Given the description of an element on the screen output the (x, y) to click on. 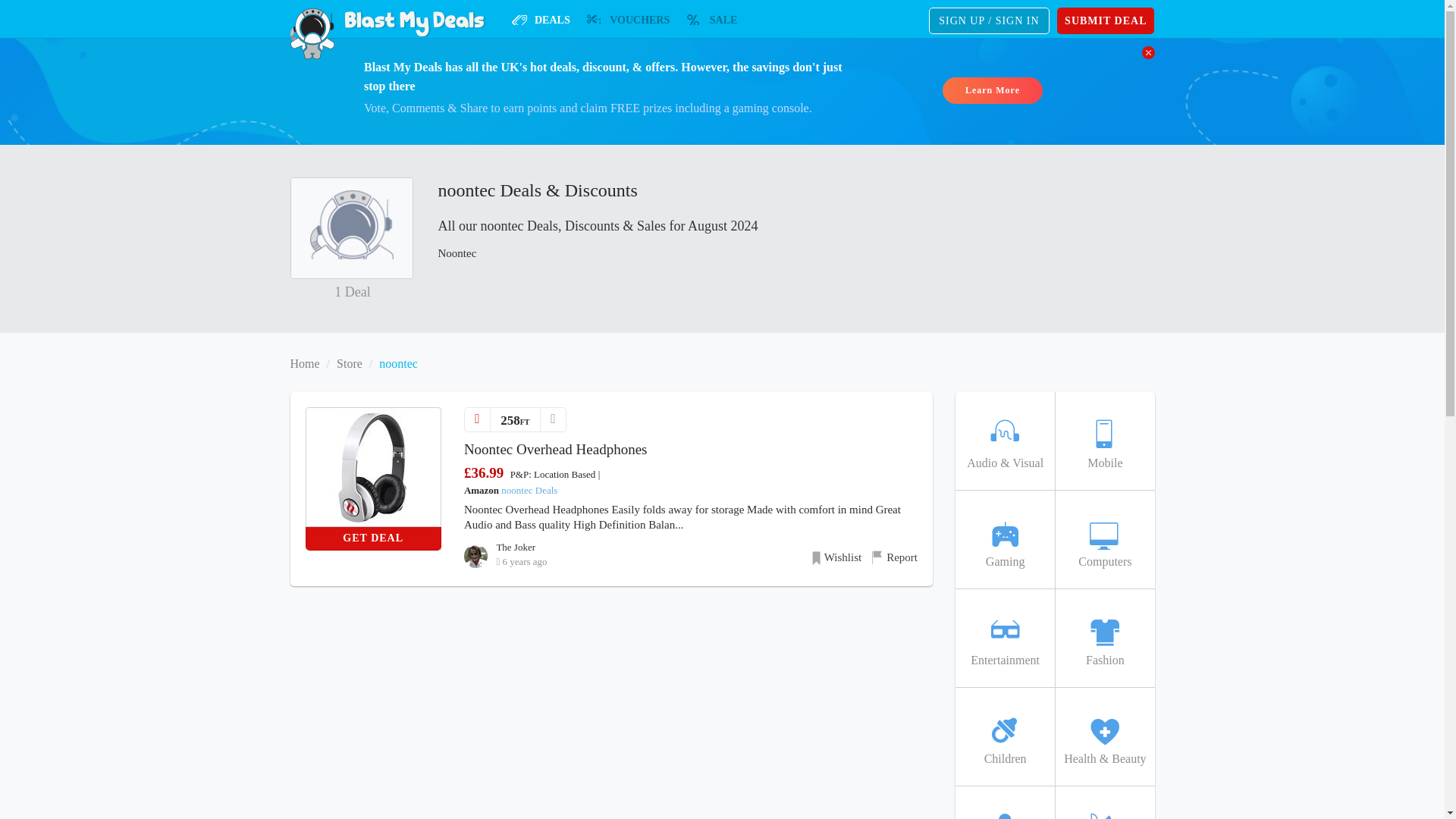
Report (894, 556)
Fashion (1104, 637)
Noontec Overhead Headphones (555, 449)
noontec Deals (528, 490)
computers (1104, 539)
audio-visual (1004, 441)
Mobile (1104, 441)
fashion (1104, 637)
Diy (1104, 802)
Noontec Overhead Headphones (373, 467)
